Given the description of an element on the screen output the (x, y) to click on. 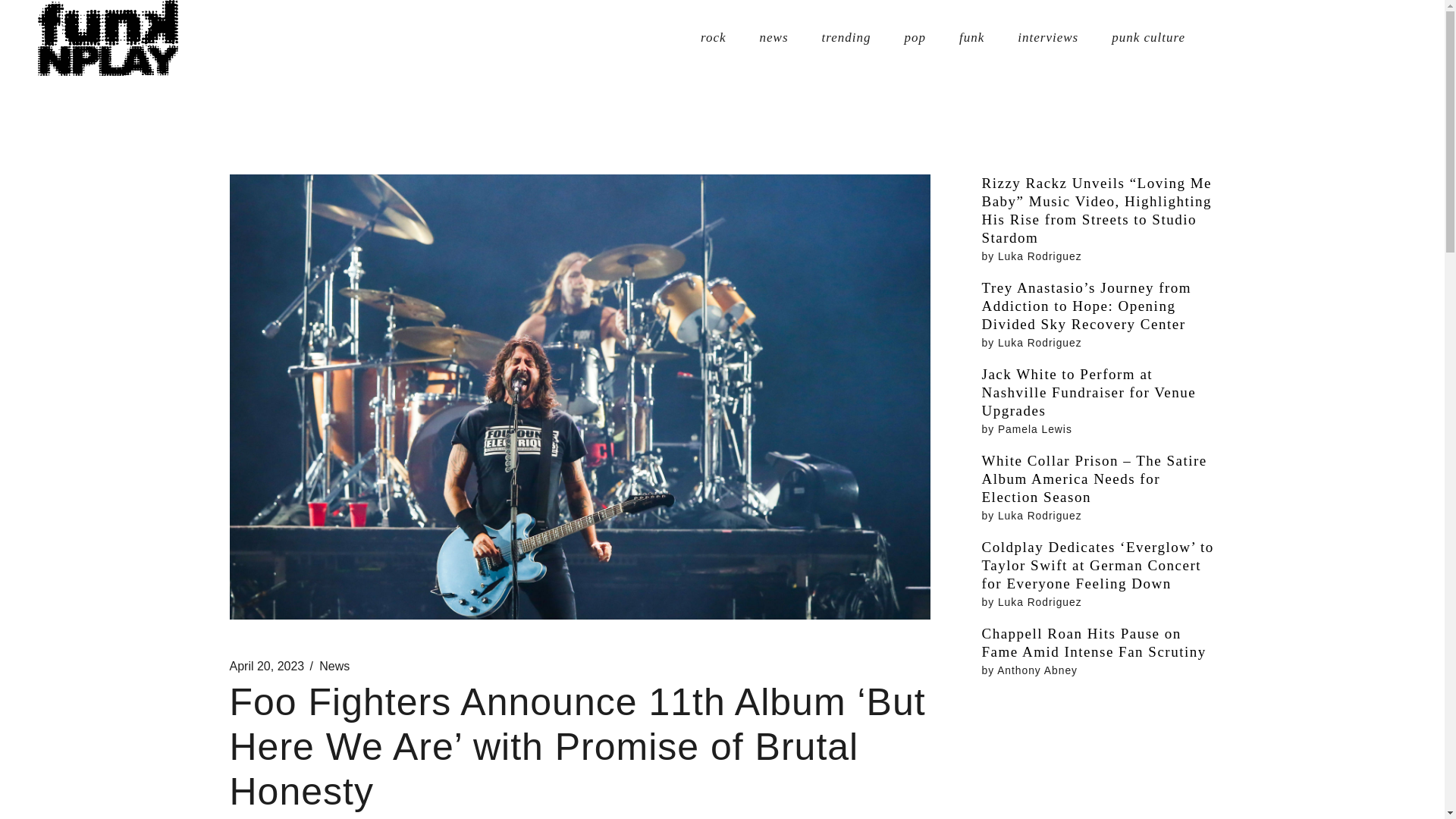
April 20, 2023 (266, 666)
interviews (1048, 38)
Chappell Roan Hits Pause on Fame Amid Intense Fan Scrutiny (1097, 642)
punk culture (1147, 38)
News (333, 666)
